Given the description of an element on the screen output the (x, y) to click on. 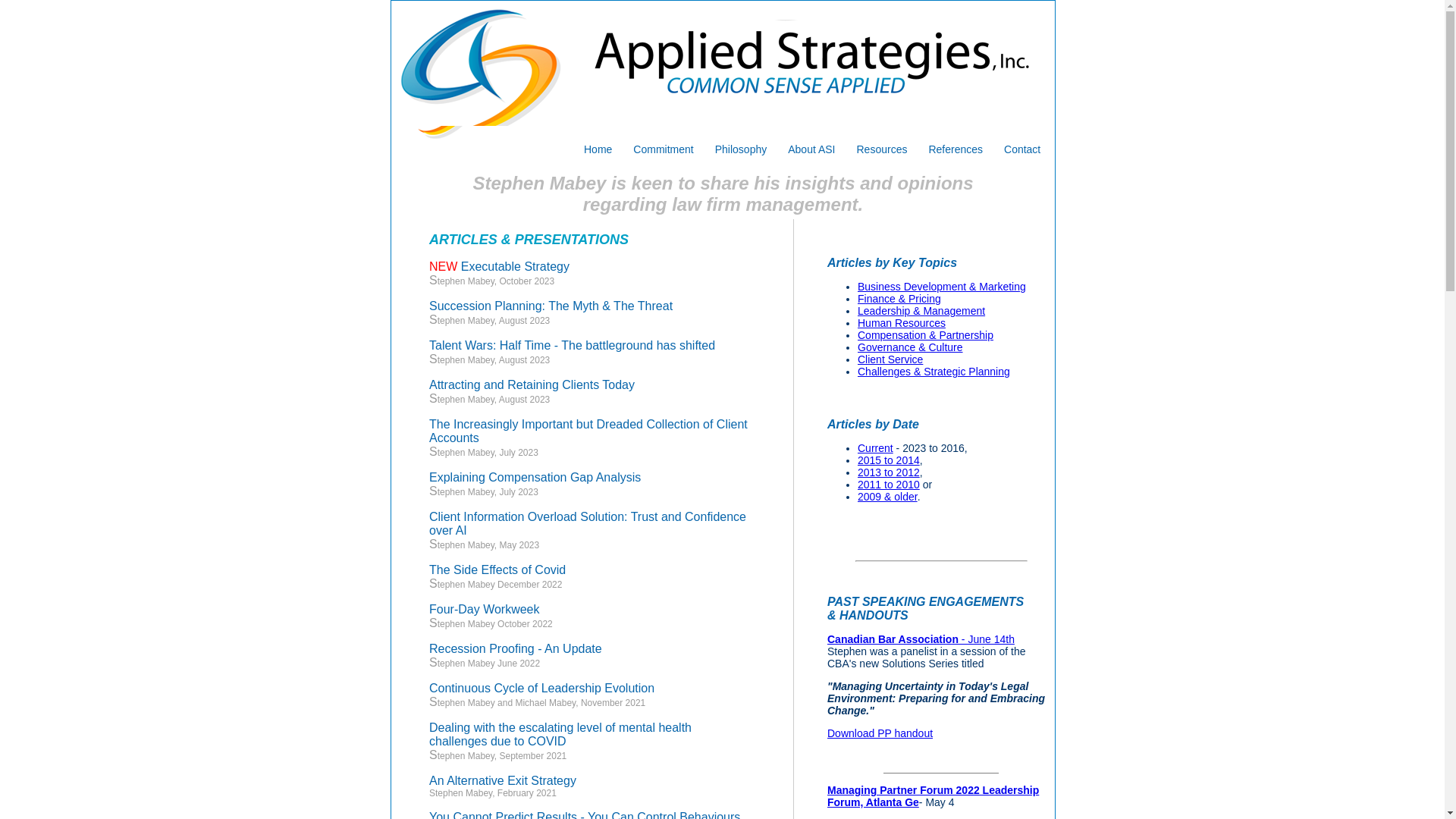
Finance & Pricing Element type: text (899, 298)
Download PP handout Element type: text (879, 733)
2015 to 2014 Element type: text (888, 460)
Talent Wars: Half Time - The battleground has shifted Element type: text (572, 348)
Recession Proofing - An Update Element type: text (515, 652)
Governance & Culture Element type: text (910, 347)
Business Development & Marketing Element type: text (941, 286)
Philosophy Element type: text (741, 148)
Contact Element type: text (1022, 148)
Client Service Element type: text (889, 359)
Human Resources Element type: text (901, 322)
Attracting and Retaining Clients Today Element type: text (531, 388)
Succession Planning: The Myth & The Threat Element type: text (550, 309)
References Element type: text (955, 148)
NEW Element type: text (443, 270)
Commitment Element type: text (662, 148)
Canadian Bar Association Element type: text (892, 639)
Explaining Compensation Gap Analysis Element type: text (534, 480)
2013 to 2012 Element type: text (888, 472)
Managing Partner Forum 2022 Leadership Forum, Atlanta Ge Element type: text (932, 796)
Challenges & Strategic Planning Element type: text (933, 371)
An Alternative Exit Strategy Element type: text (502, 784)
Executable Strategy Element type: text (515, 270)
Home Element type: text (597, 148)
Compensation & Partnership Element type: text (925, 335)
The Side Effects of Covid Element type: text (497, 573)
Current Element type: text (875, 448)
Four-Day Workweek Element type: text (484, 612)
Continuous Cycle of Leadership Evolution Element type: text (541, 691)
Leadership & Management Element type: text (921, 310)
Resources Element type: text (882, 148)
- June 14th Element type: text (986, 639)
2011 to 2010 Element type: text (888, 484)
2009 & older Element type: text (887, 496)
About ASI Element type: text (811, 148)
